Given the description of an element on the screen output the (x, y) to click on. 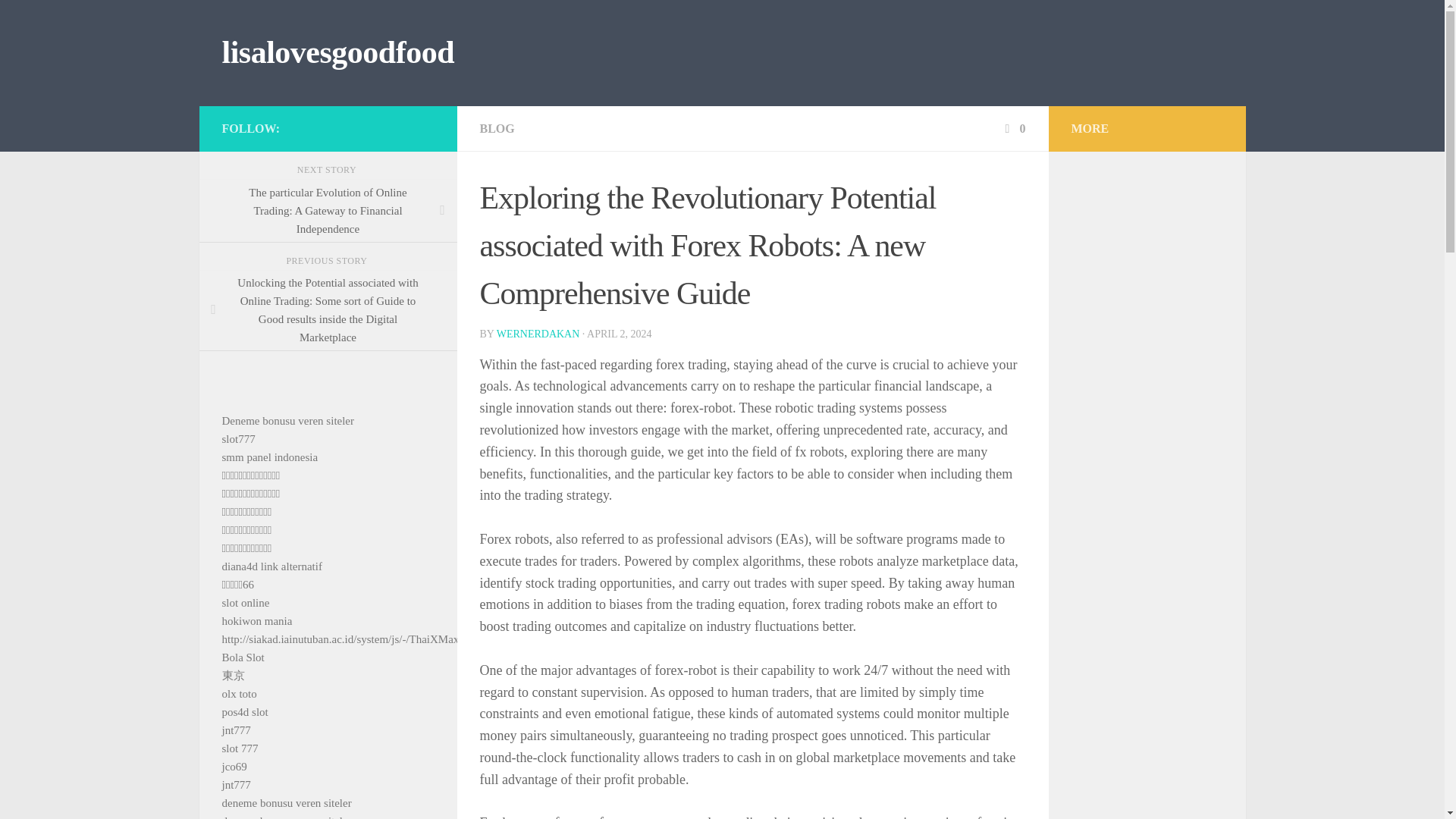
0 (1013, 128)
smm panel indonesia (269, 457)
Skip to content (59, 20)
WERNERDAKAN (537, 333)
Bola Slot (242, 657)
Posts by WernerDakan (537, 333)
hokiwon mania (256, 621)
Deneme bonusu veren siteler (287, 420)
lisalovesgoodfood (337, 53)
diana4d link alternatif (271, 566)
